Given the description of an element on the screen output the (x, y) to click on. 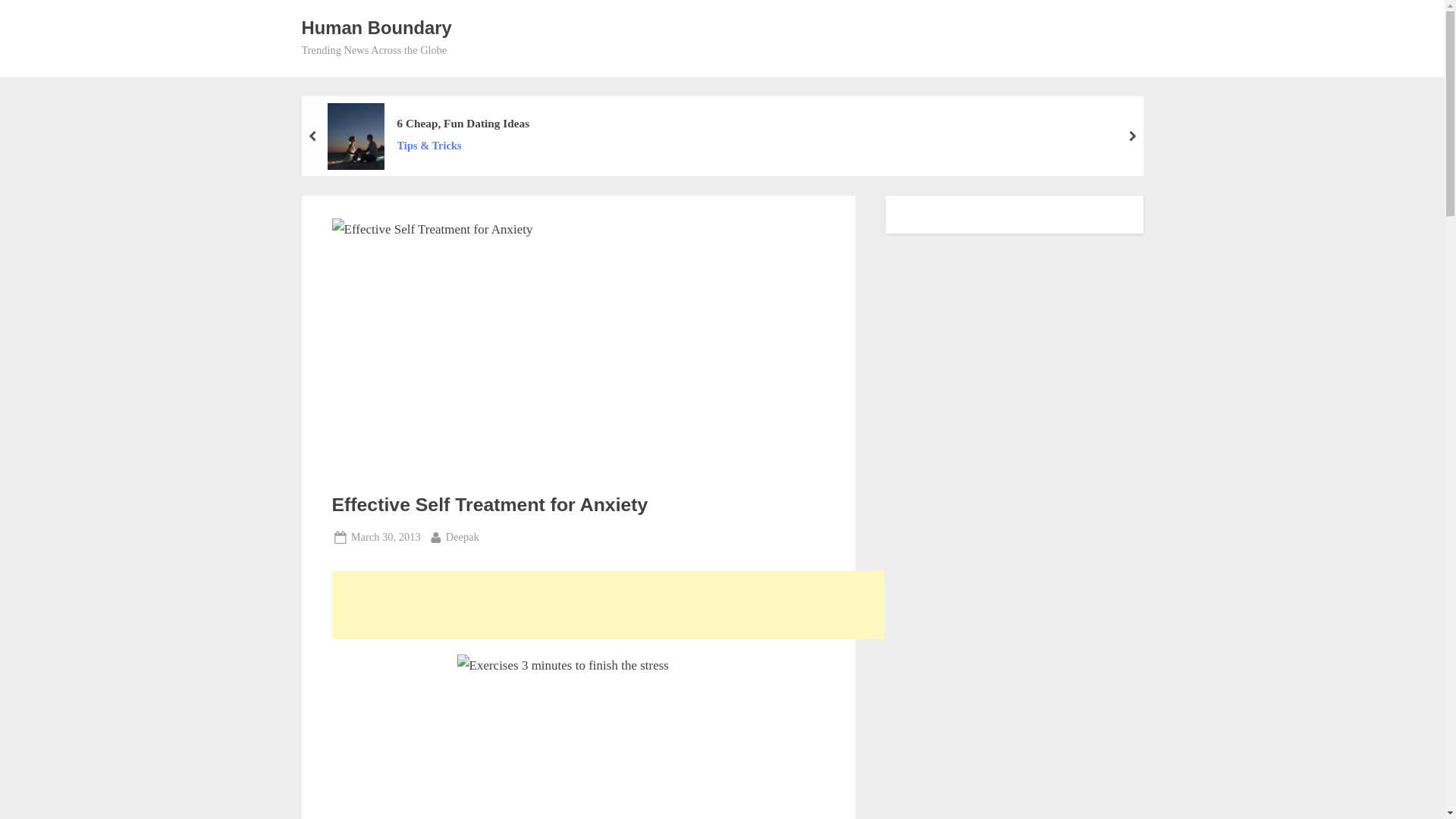
Human Boundary (376, 27)
6 Cheap, Fun Dating Ideas (385, 537)
